Given the description of an element on the screen output the (x, y) to click on. 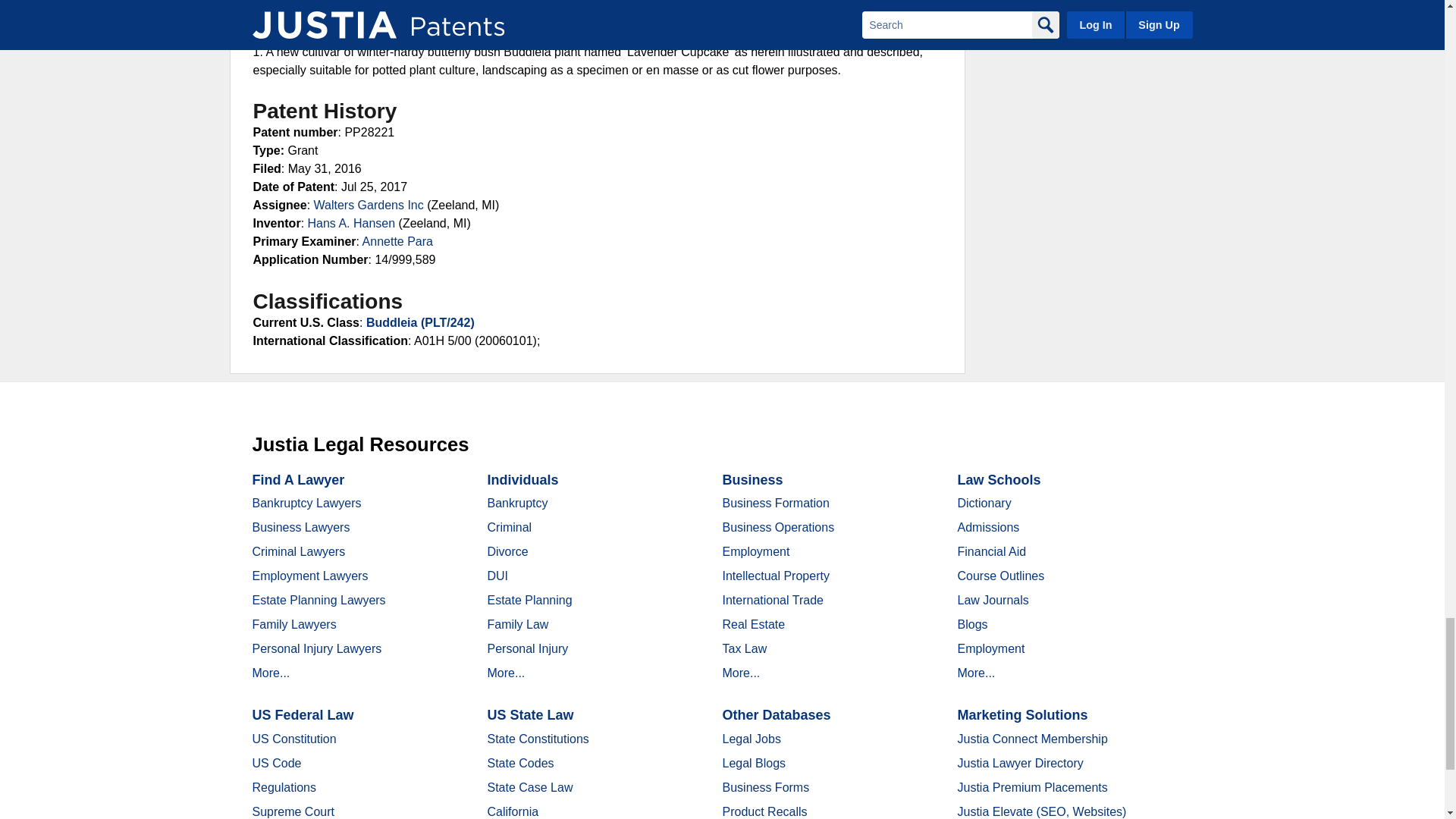
Walters Gardens Inc (368, 205)
